Given the description of an element on the screen output the (x, y) to click on. 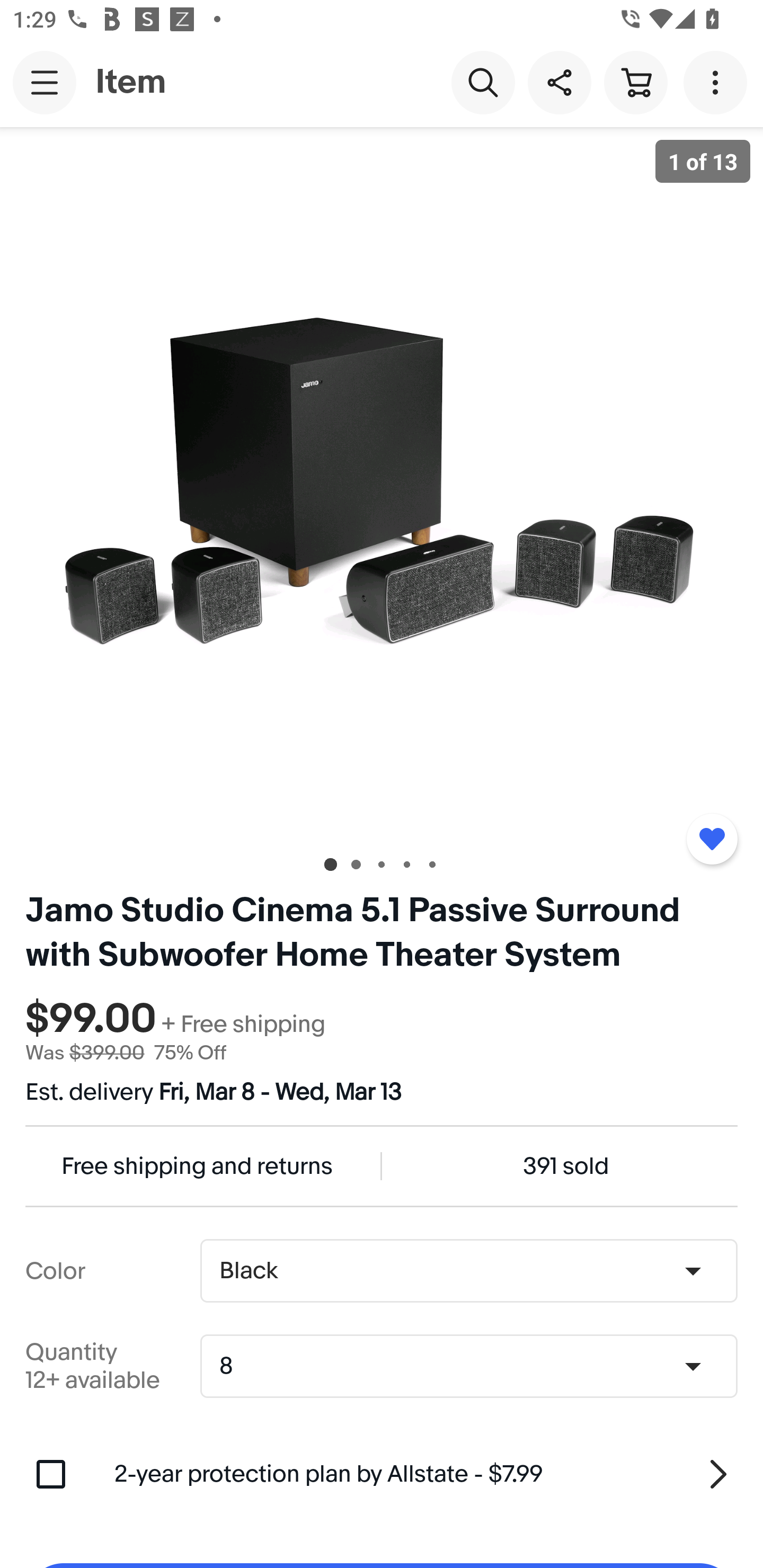
Main navigation, open (44, 82)
Search (482, 81)
Share this item (559, 81)
Cart button shopping cart (635, 81)
More options (718, 81)
Item image 1 of 13 (381, 482)
Added to watchlist (711, 838)
Color,Black Black (468, 1270)
Quantity,8,12+ available 8 (474, 1365)
2-year protection plan by Allstate - $7.99 (425, 1473)
